Given the description of an element on the screen output the (x, y) to click on. 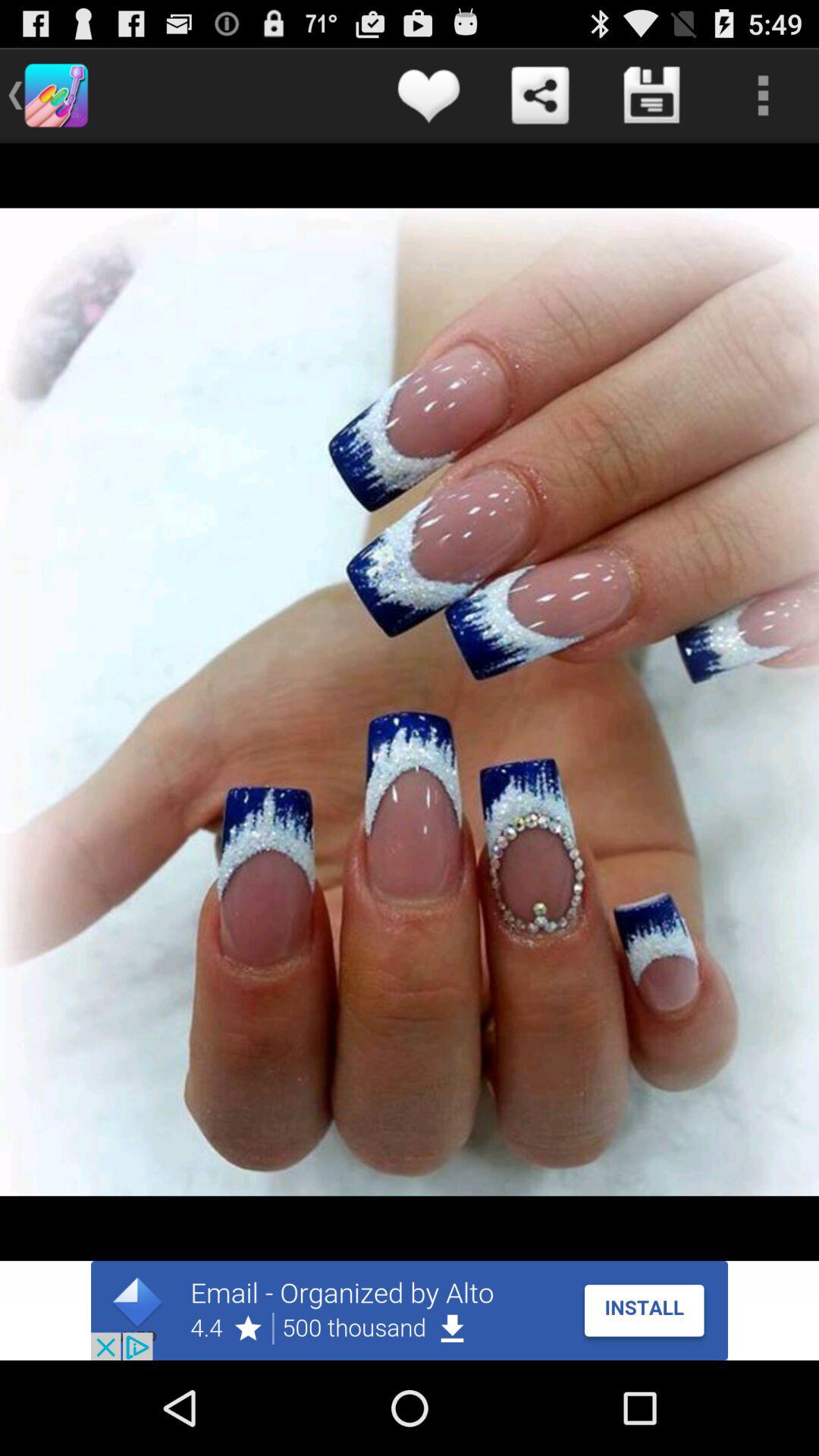
more information (763, 95)
